Given the description of an element on the screen output the (x, y) to click on. 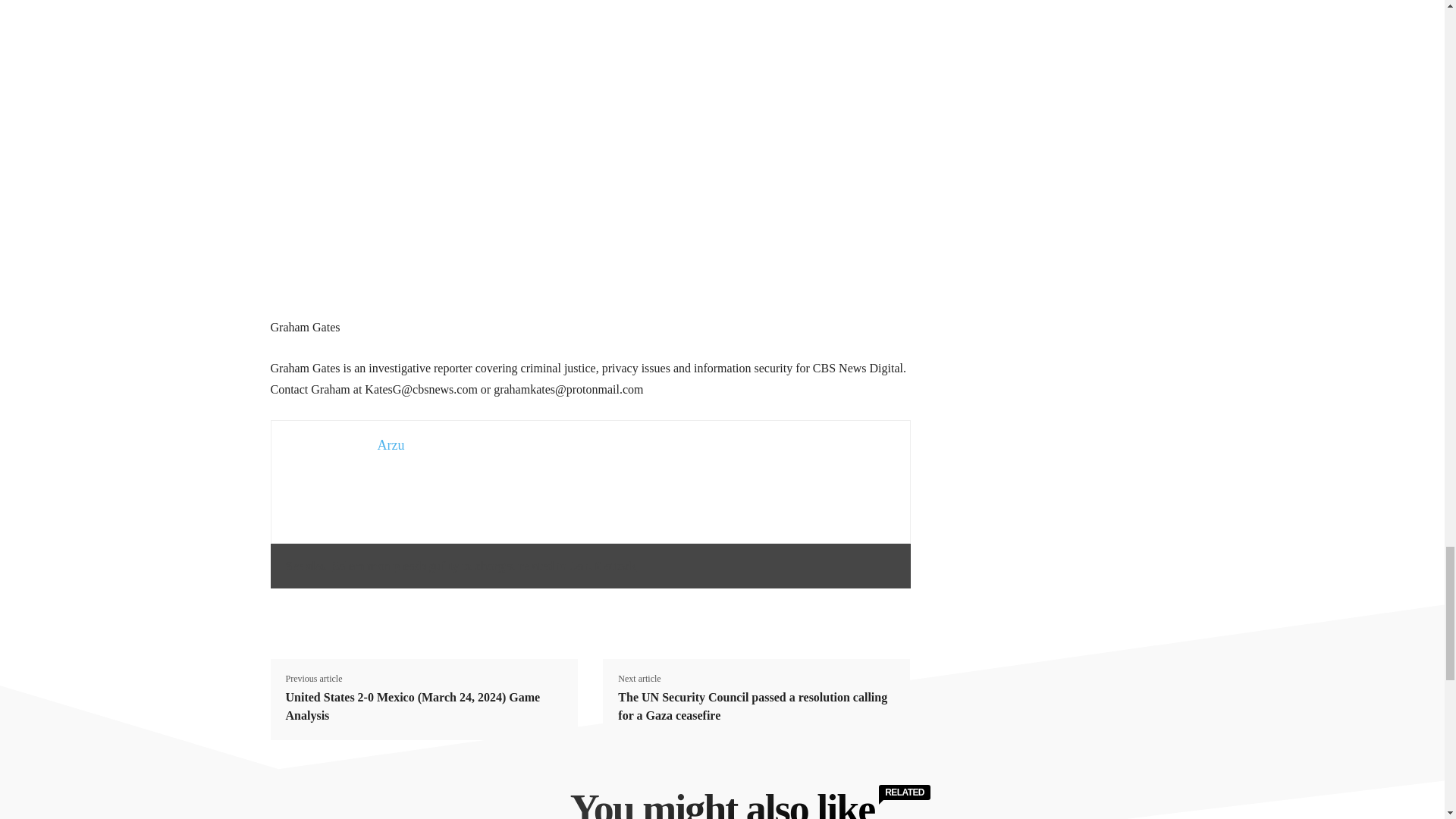
Arzu (390, 444)
